Given the description of an element on the screen output the (x, y) to click on. 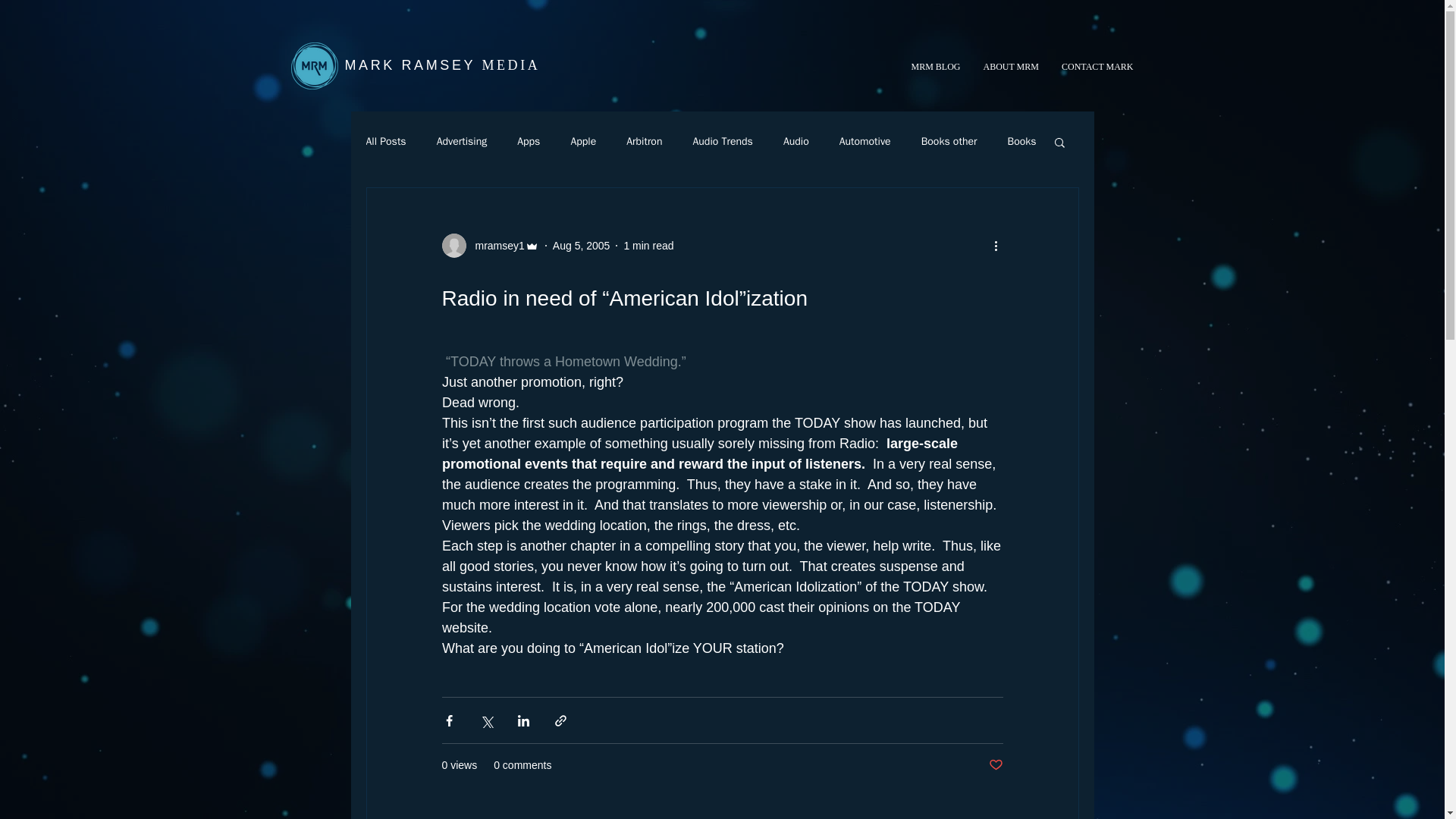
Advertising (461, 141)
Books other (948, 141)
Audio Trends (722, 141)
MRM BLOG (935, 66)
mramsey1 (494, 245)
All Posts (385, 141)
ABOUT MRM (1010, 66)
1 min read (647, 245)
Audio (796, 141)
Aug 5, 2005 (581, 245)
Apps (528, 141)
mramsey1 (489, 245)
Arbitron (644, 141)
Apple (582, 141)
MARK RAMSEY MEDIA (441, 64)
